Given the description of an element on the screen output the (x, y) to click on. 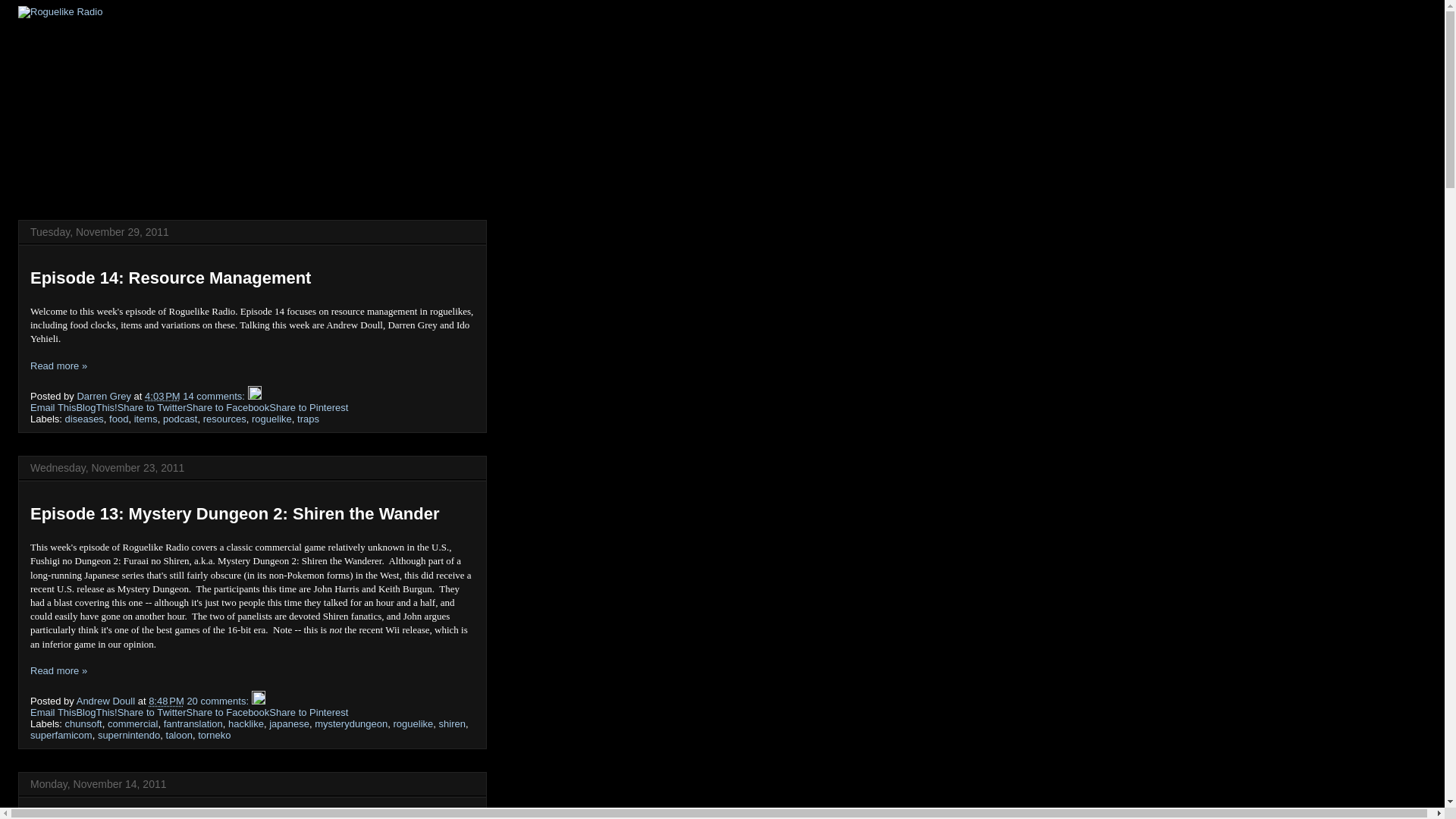
Episode 13: Mystery Dungeon 2: Shiren the Wander (58, 670)
traps (307, 419)
mysterydungeon (350, 723)
BlogThis! (95, 407)
diseases (84, 419)
Share to Facebook (227, 407)
Episode 13: Mystery Dungeon 2: Shiren the Wander (234, 513)
BlogThis! (95, 712)
Share to Facebook (227, 712)
commercial (132, 723)
Email This (52, 407)
podcast (180, 419)
author profile (107, 700)
BlogThis! (95, 407)
